Given the description of an element on the screen output the (x, y) to click on. 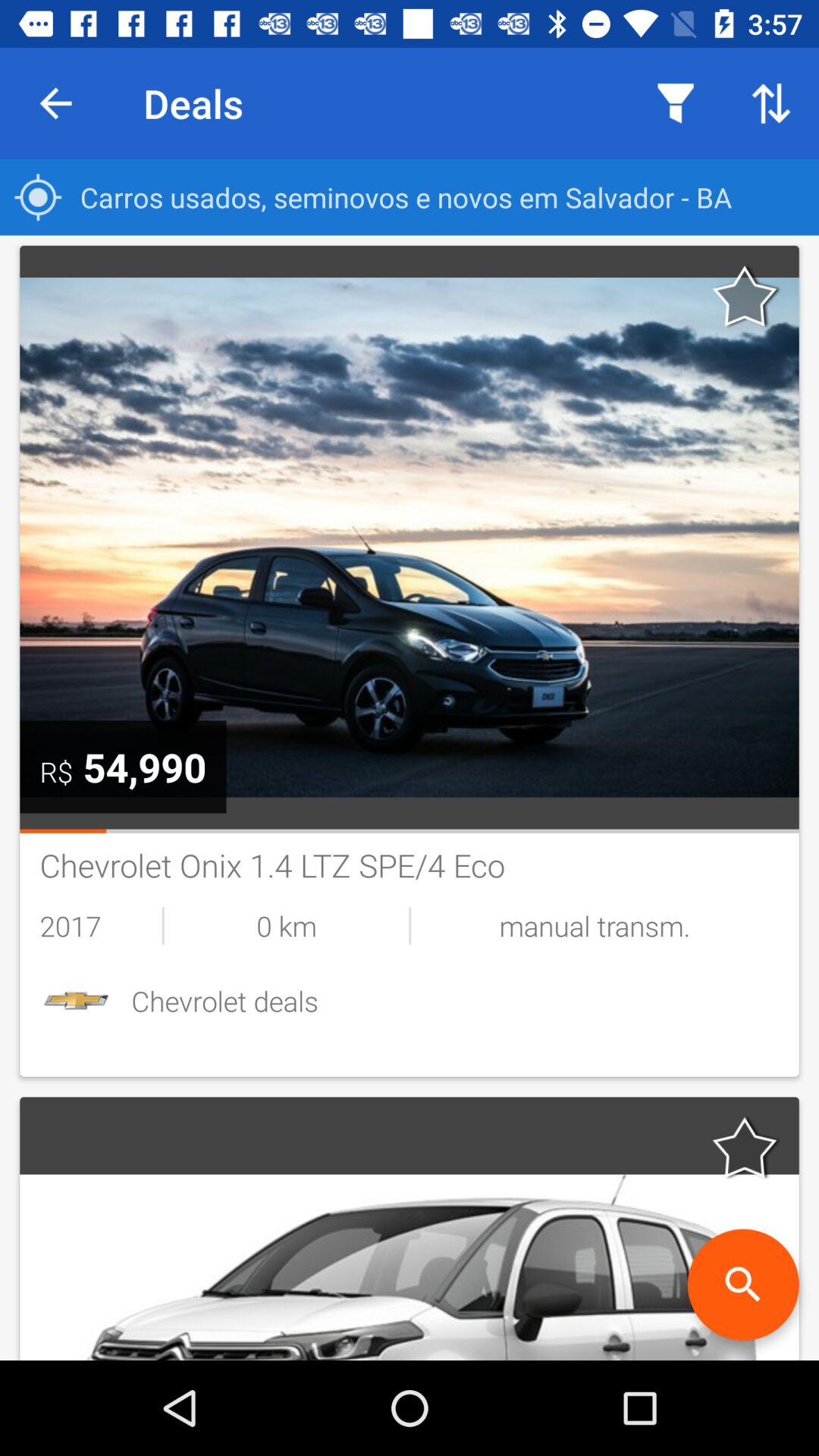
zoom the picture (743, 1284)
